Given the description of an element on the screen output the (x, y) to click on. 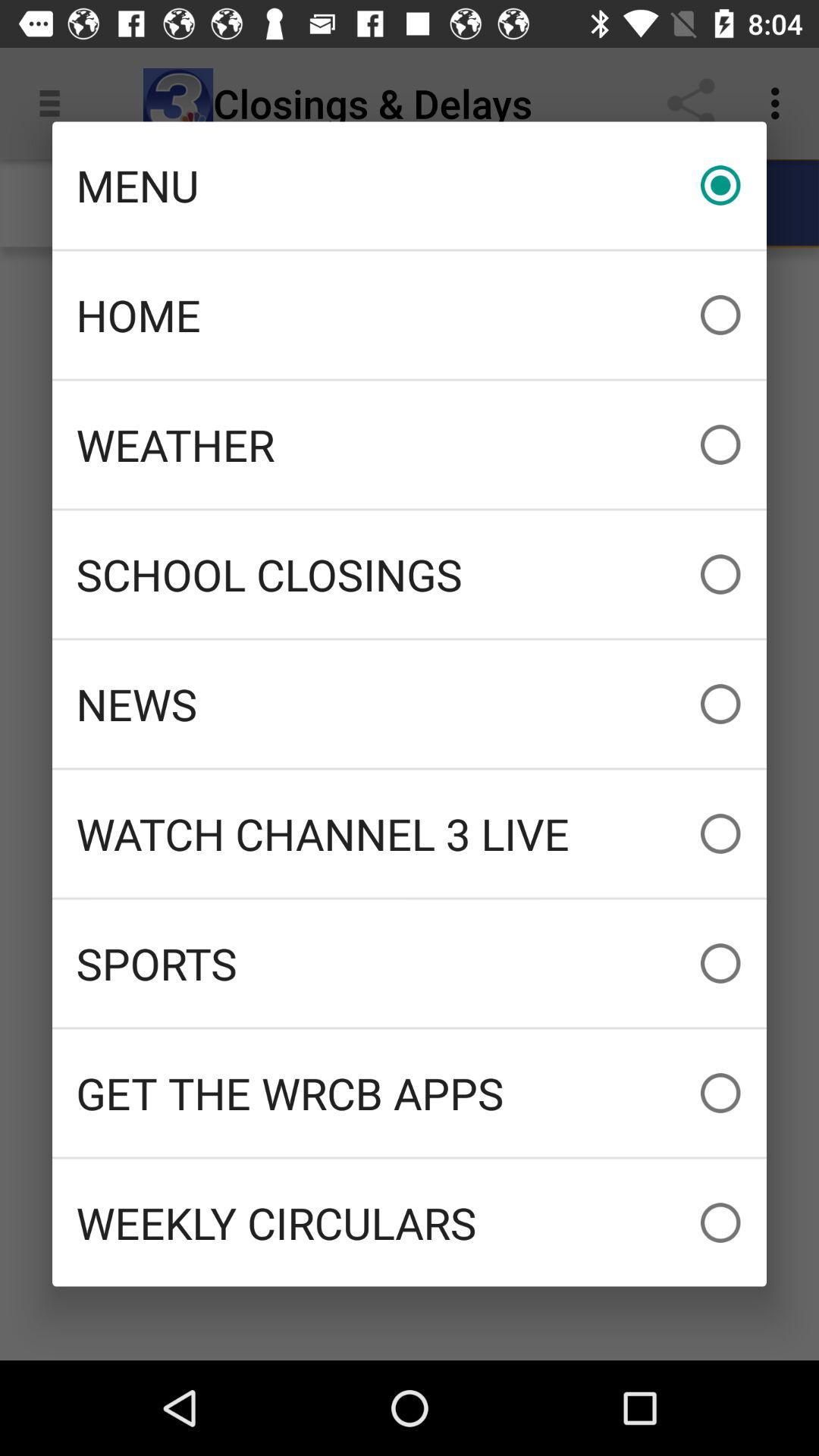
select weekly circulars icon (409, 1222)
